Given the description of an element on the screen output the (x, y) to click on. 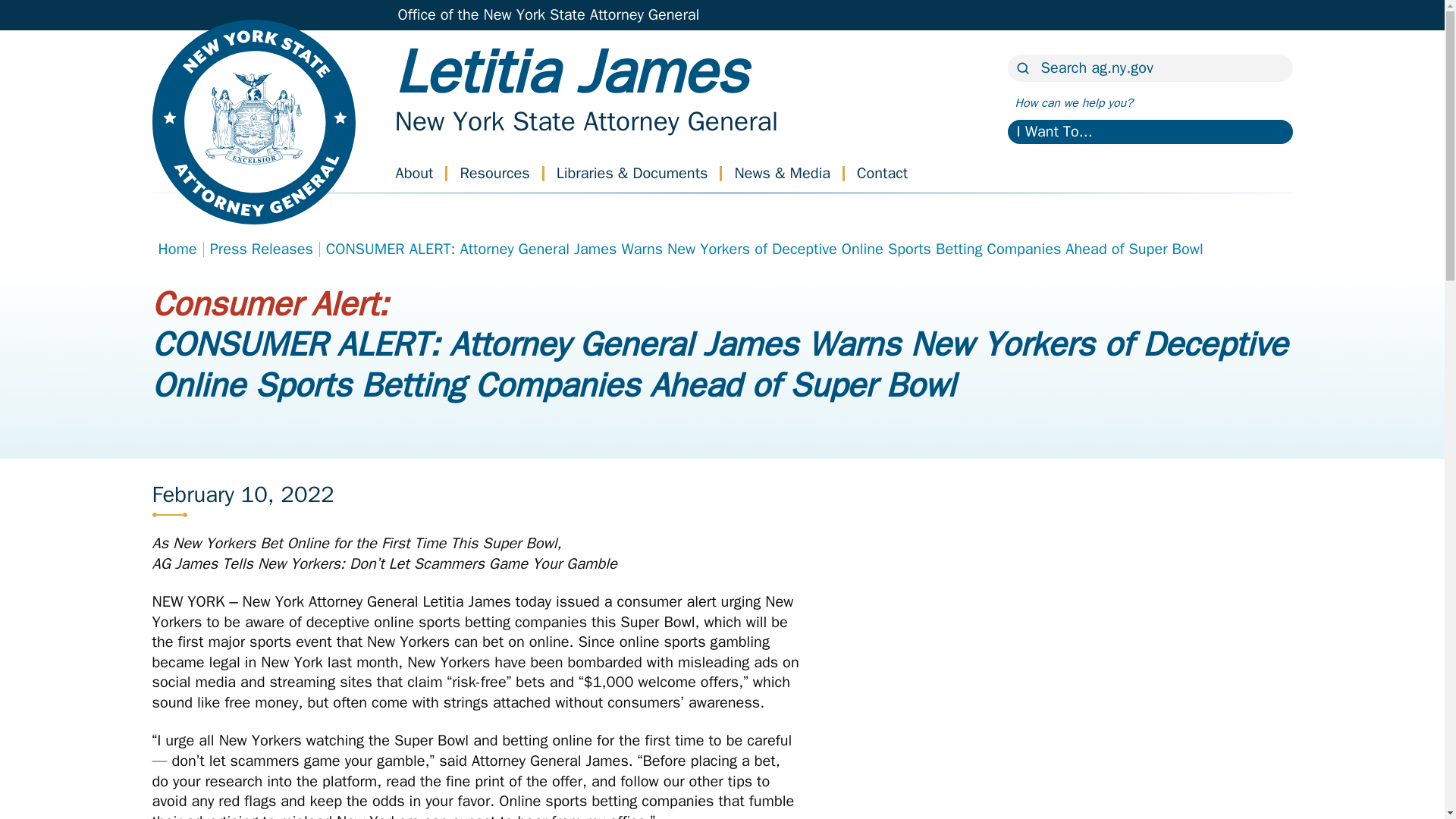
I Want To... (1149, 131)
Skip to main content (16, 4)
Home (579, 90)
Resources (494, 173)
I Want To... (1149, 131)
About (414, 173)
Home (585, 121)
Search (38, 13)
